Given the description of an element on the screen output the (x, y) to click on. 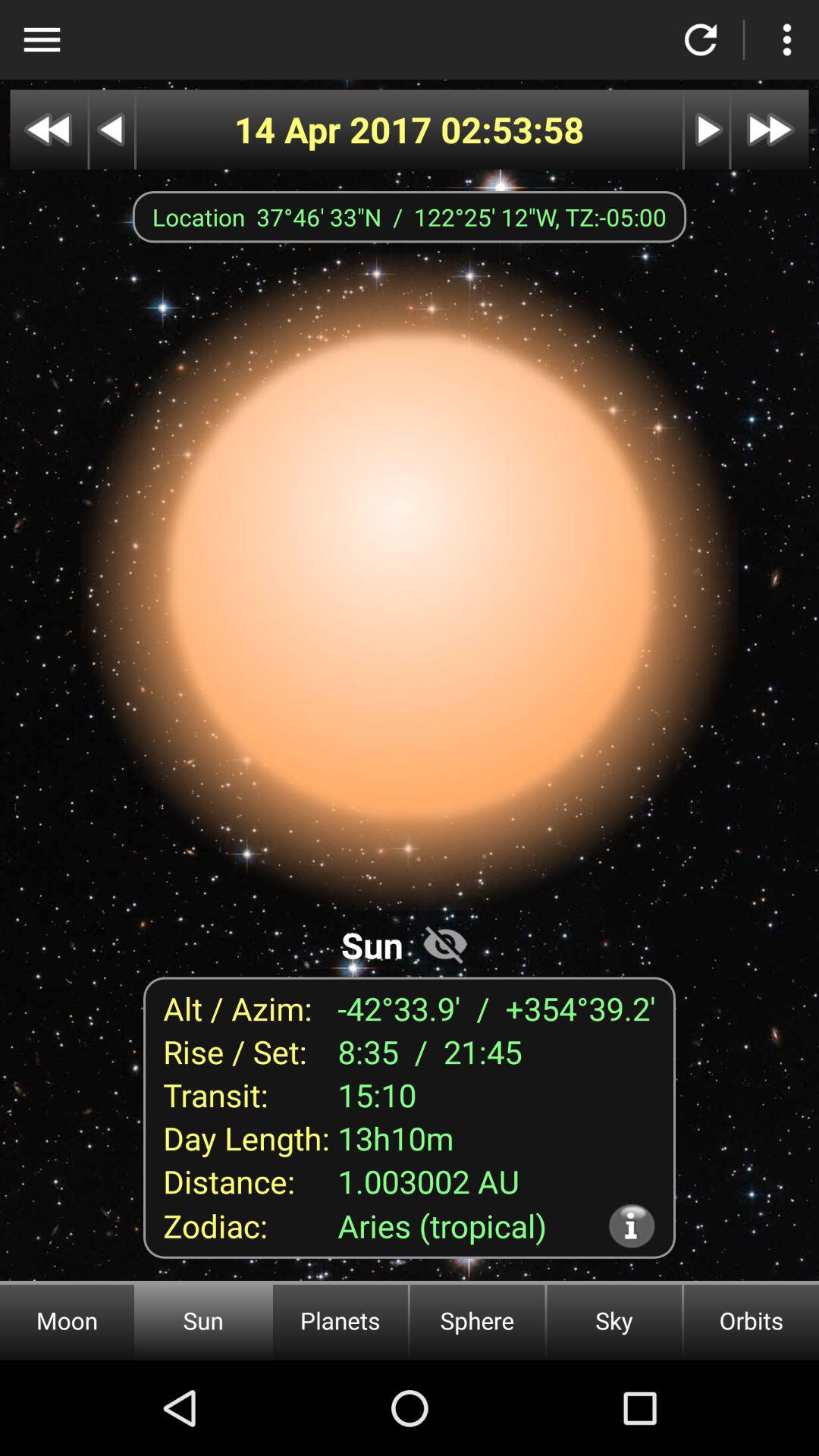
search options (41, 39)
